Given the description of an element on the screen output the (x, y) to click on. 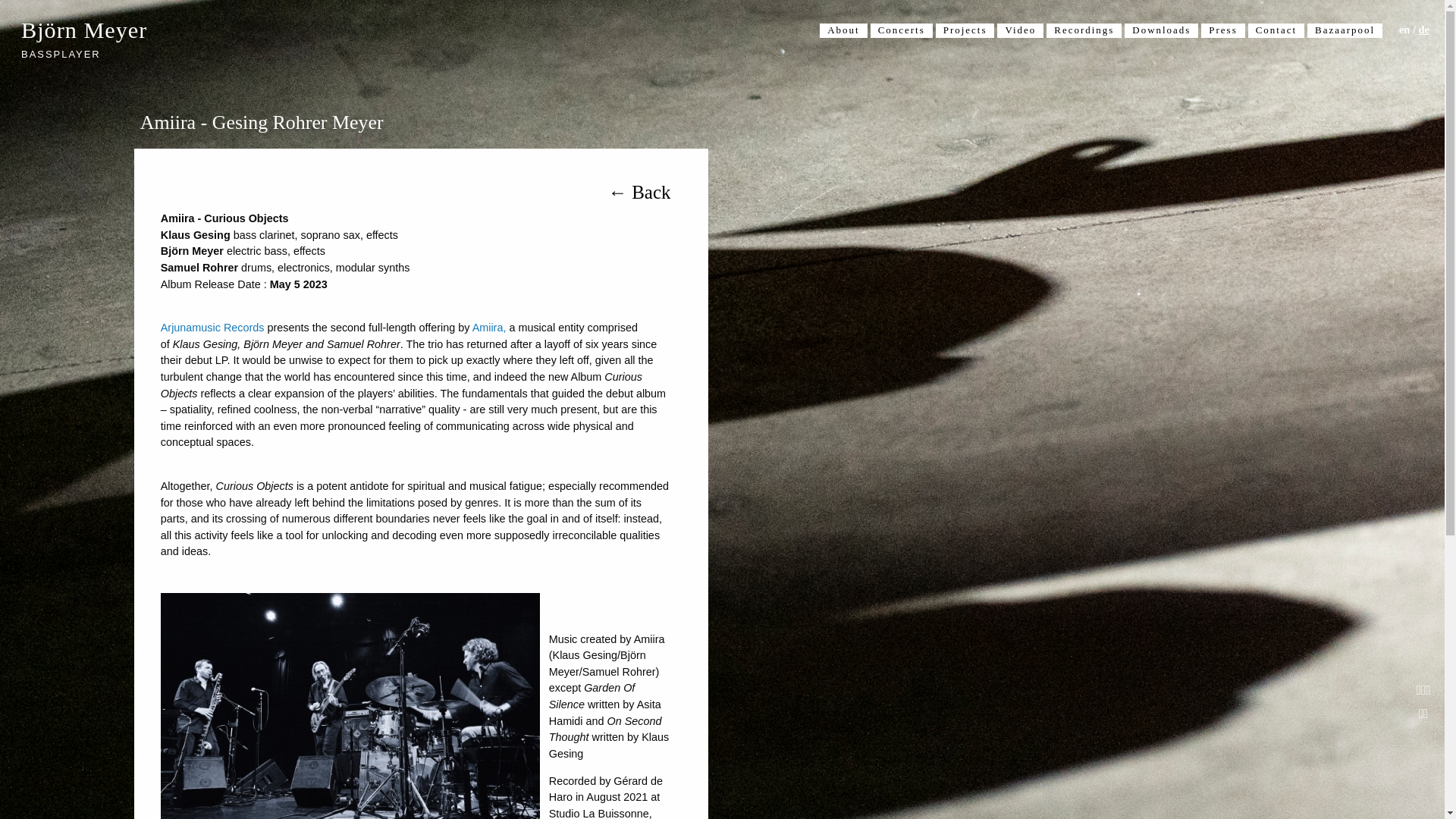
Projects (965, 30)
Bazaarpool (1344, 30)
Recordings (1083, 30)
Concerts (901, 30)
Arjunamusic Records (212, 327)
Downloads (1161, 30)
Video (1020, 30)
Amiira, (488, 327)
Press (1222, 30)
Contact (1275, 30)
